Given the description of an element on the screen output the (x, y) to click on. 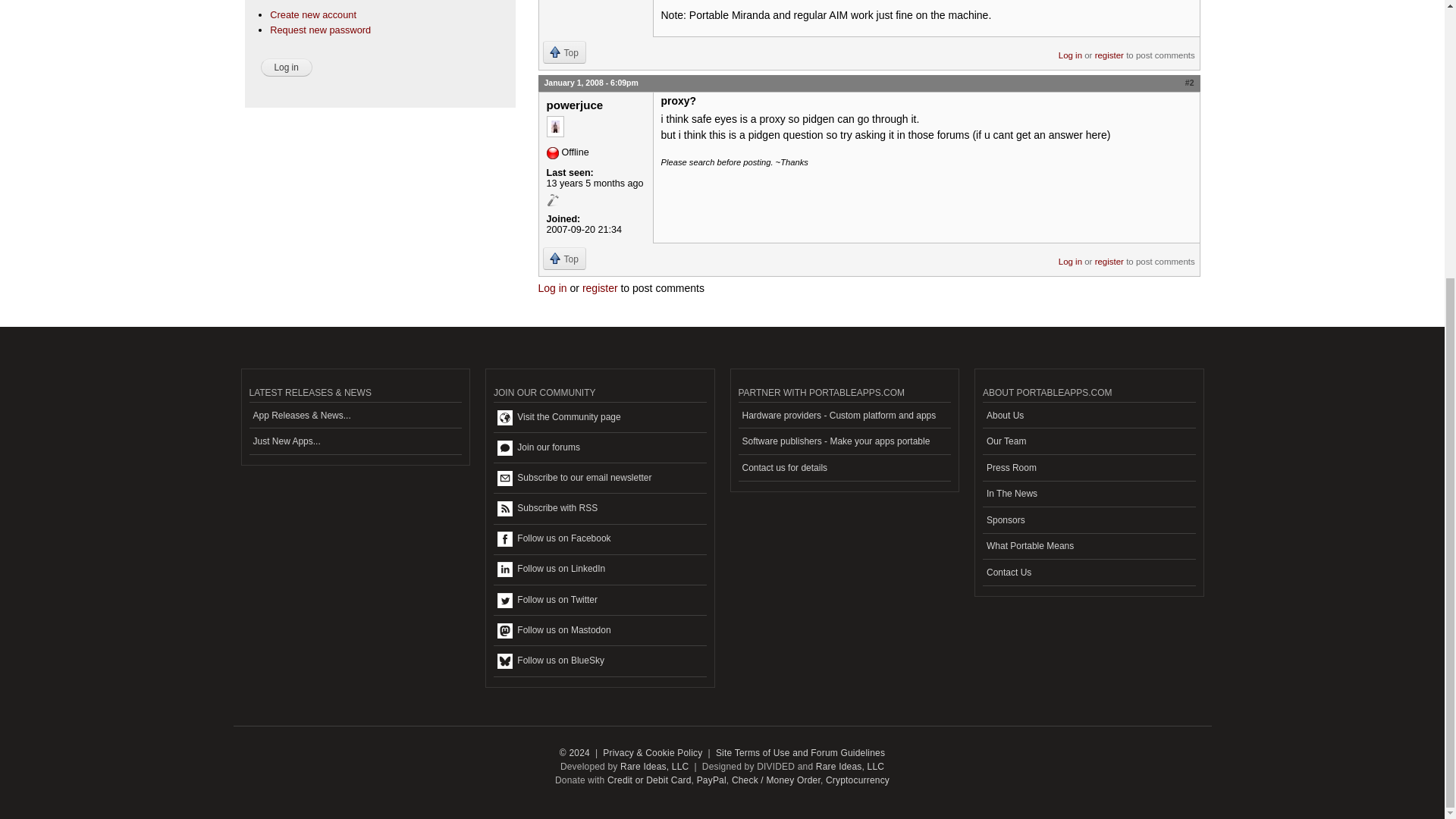
Log in (552, 287)
Request new password via e-mail. (320, 30)
Jump to top of page (564, 258)
register (1109, 49)
Developer (551, 200)
Top (564, 258)
Top (564, 51)
Log in (286, 67)
Jump to top of page (564, 51)
register (1109, 256)
